Given the description of an element on the screen output the (x, y) to click on. 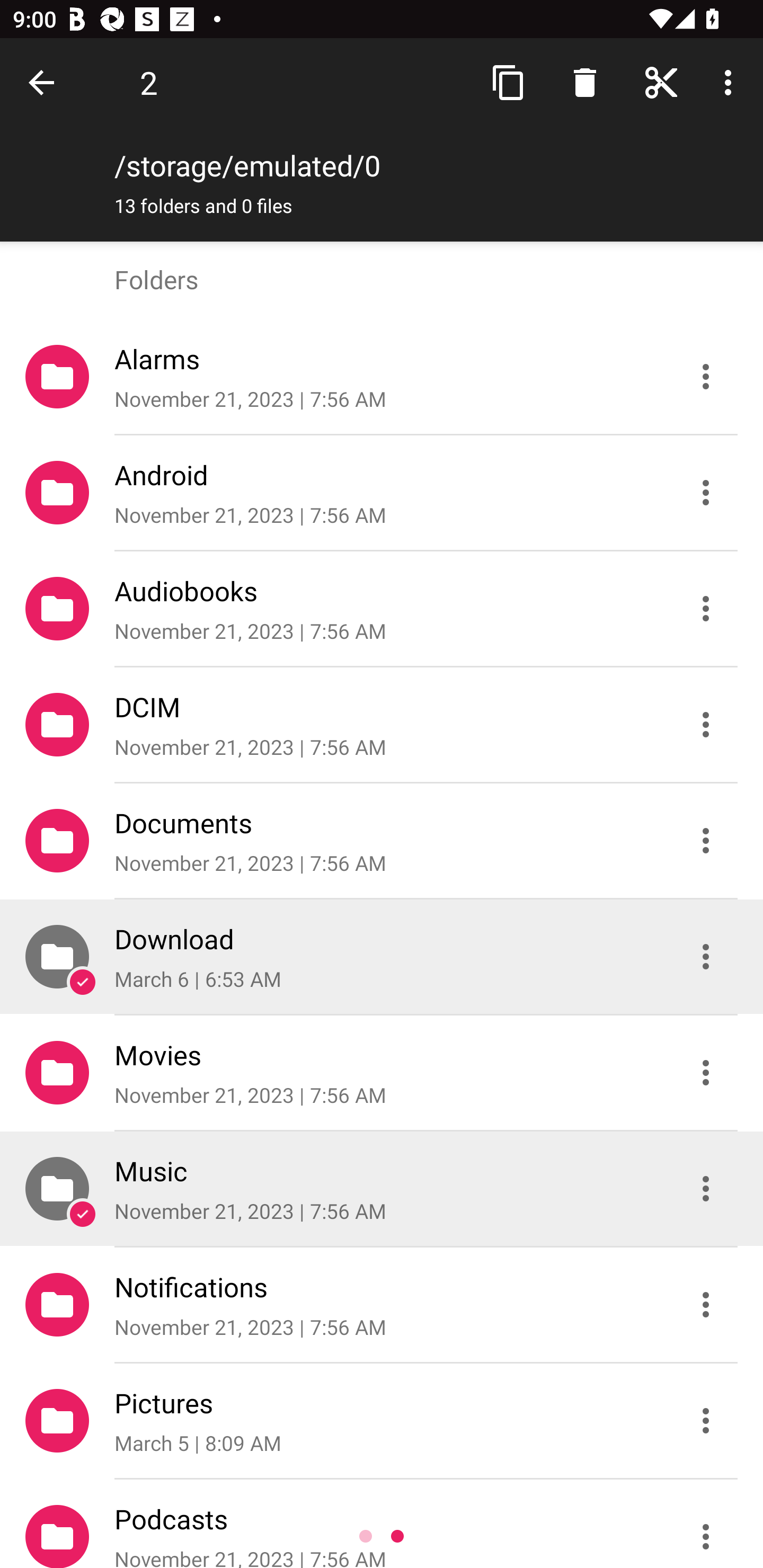
2 (148, 82)
Done (44, 81)
Copy (508, 81)
Search (585, 81)
Home (661, 81)
More options (731, 81)
Alarms November 21, 2023 | 7:56 AM (381, 376)
Android November 21, 2023 | 7:56 AM (381, 492)
Audiobooks November 21, 2023 | 7:56 AM (381, 608)
DCIM November 21, 2023 | 7:56 AM (381, 724)
Documents November 21, 2023 | 7:56 AM (381, 841)
Download March 6 | 6:53 AM (381, 957)
Movies November 21, 2023 | 7:56 AM (381, 1073)
Music November 21, 2023 | 7:56 AM (381, 1189)
Notifications November 21, 2023 | 7:56 AM (381, 1305)
Pictures March 5 | 8:09 AM (381, 1421)
Podcasts November 21, 2023 | 7:56 AM (381, 1524)
